Given the description of an element on the screen output the (x, y) to click on. 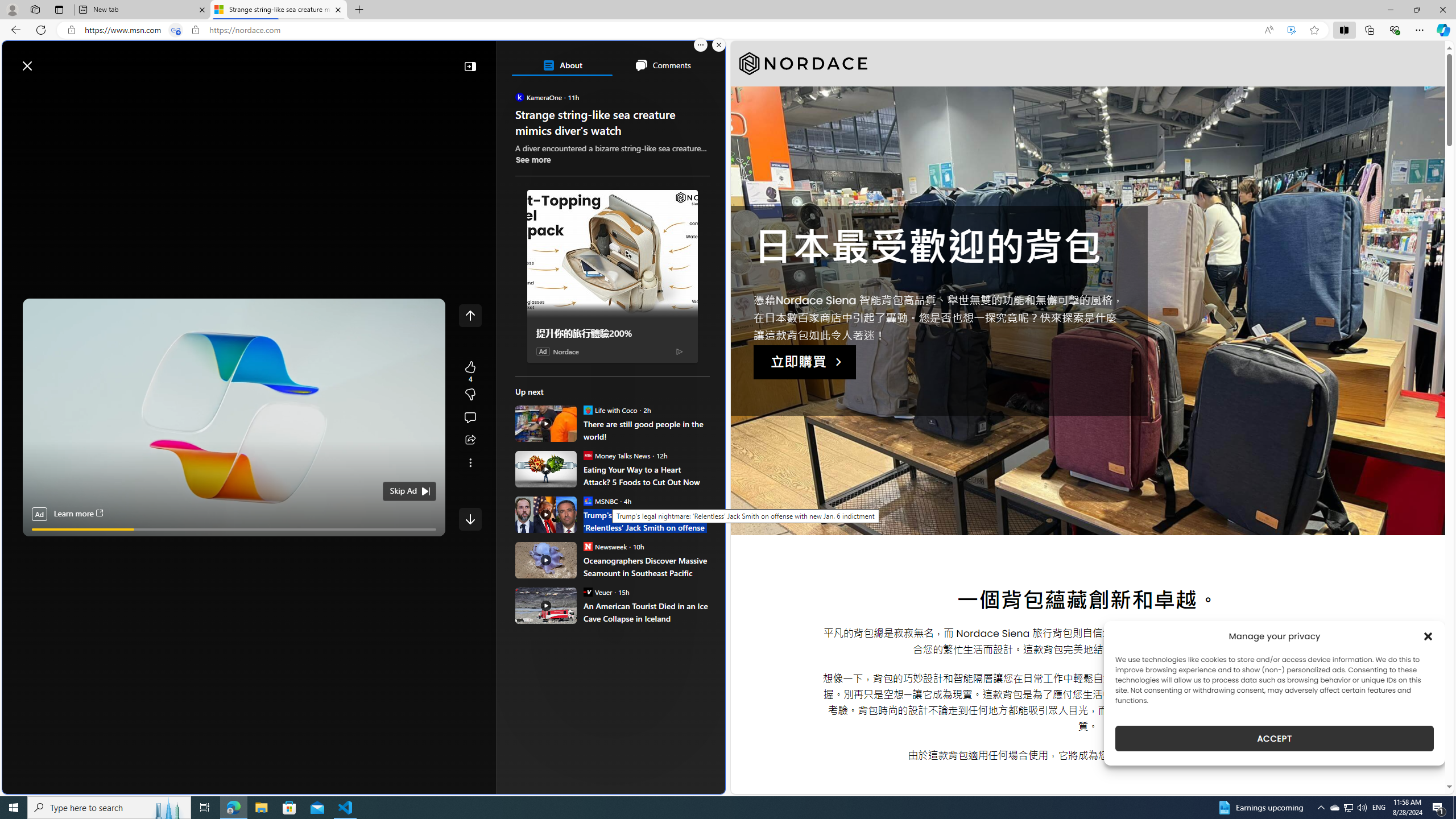
View site information (195, 29)
Watch (145, 92)
Close (1442, 9)
Following (97, 92)
Restore (1416, 9)
Tabs in split screen (175, 29)
Collapse (469, 65)
Life with Coco (587, 409)
ABC News (554, 415)
The Associated Press (554, 366)
